Given the description of an element on the screen output the (x, y) to click on. 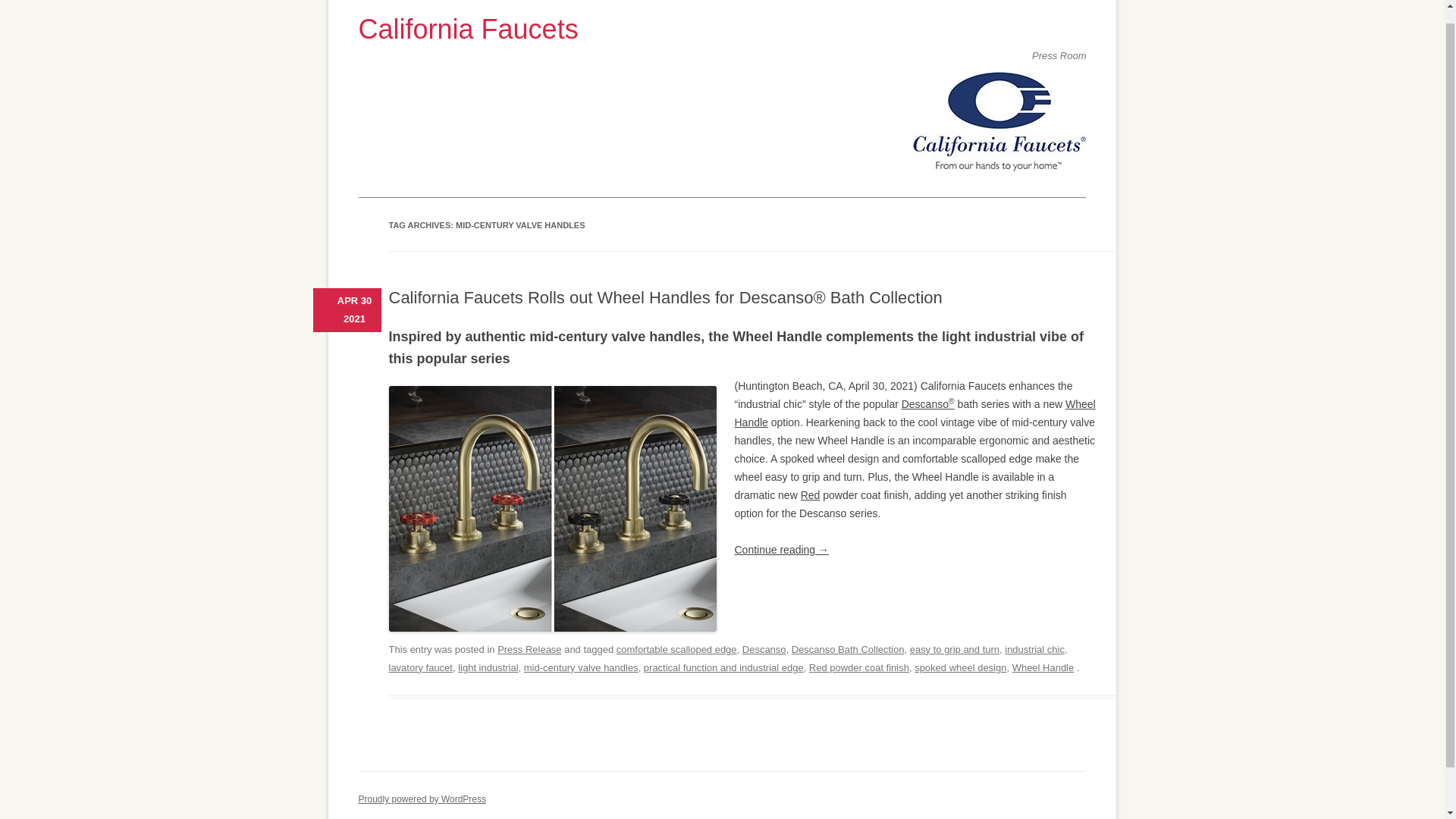
Wheel Handle (913, 413)
Descanso (764, 649)
practical function and industrial edge (723, 667)
Wheel Handle (1042, 667)
comfortable scalloped edge (675, 649)
light industrial (488, 667)
Red powder coat finish (858, 667)
California Faucets (722, 29)
